Given the description of an element on the screen output the (x, y) to click on. 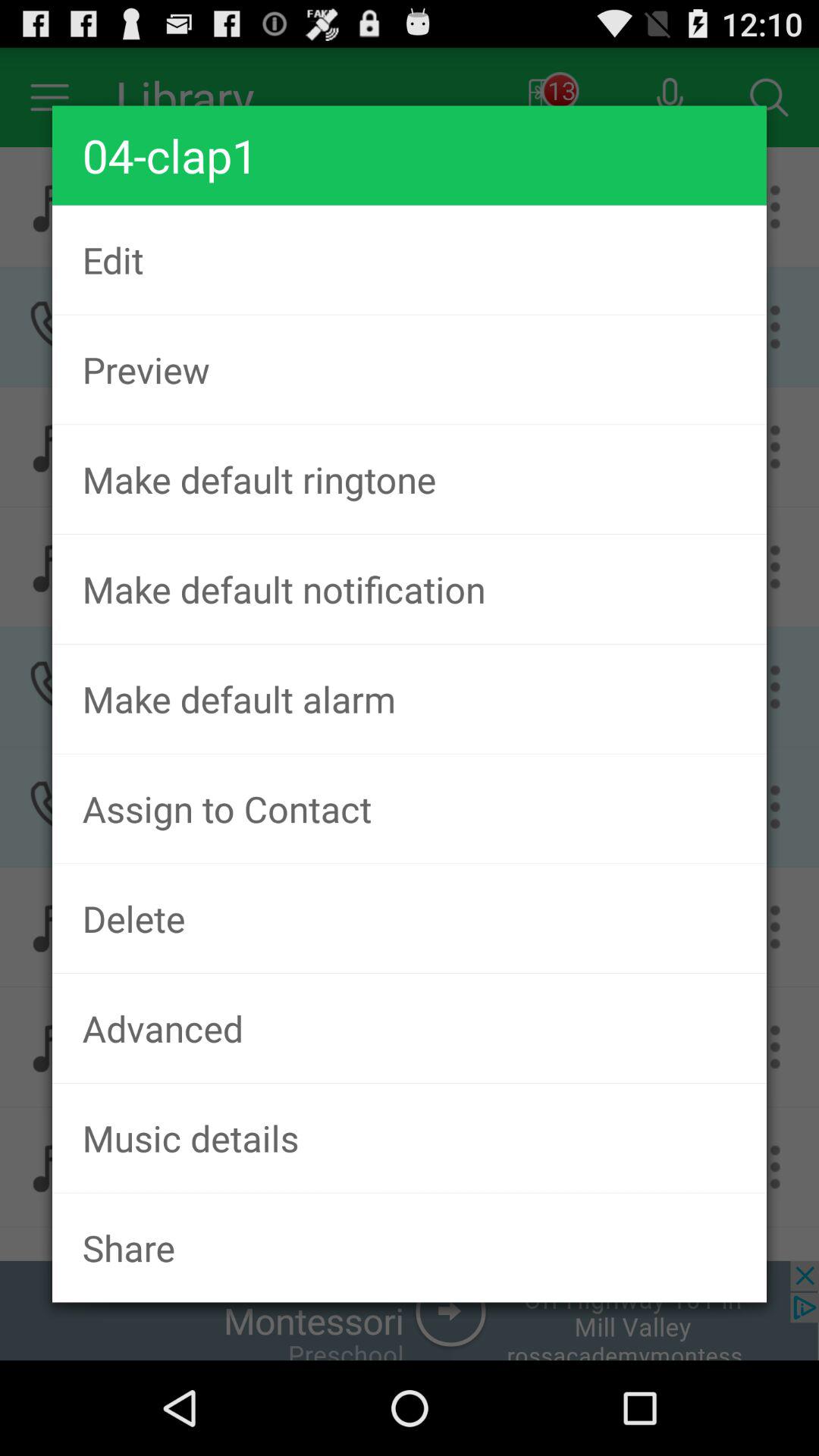
swipe to the delete app (409, 918)
